Given the description of an element on the screen output the (x, y) to click on. 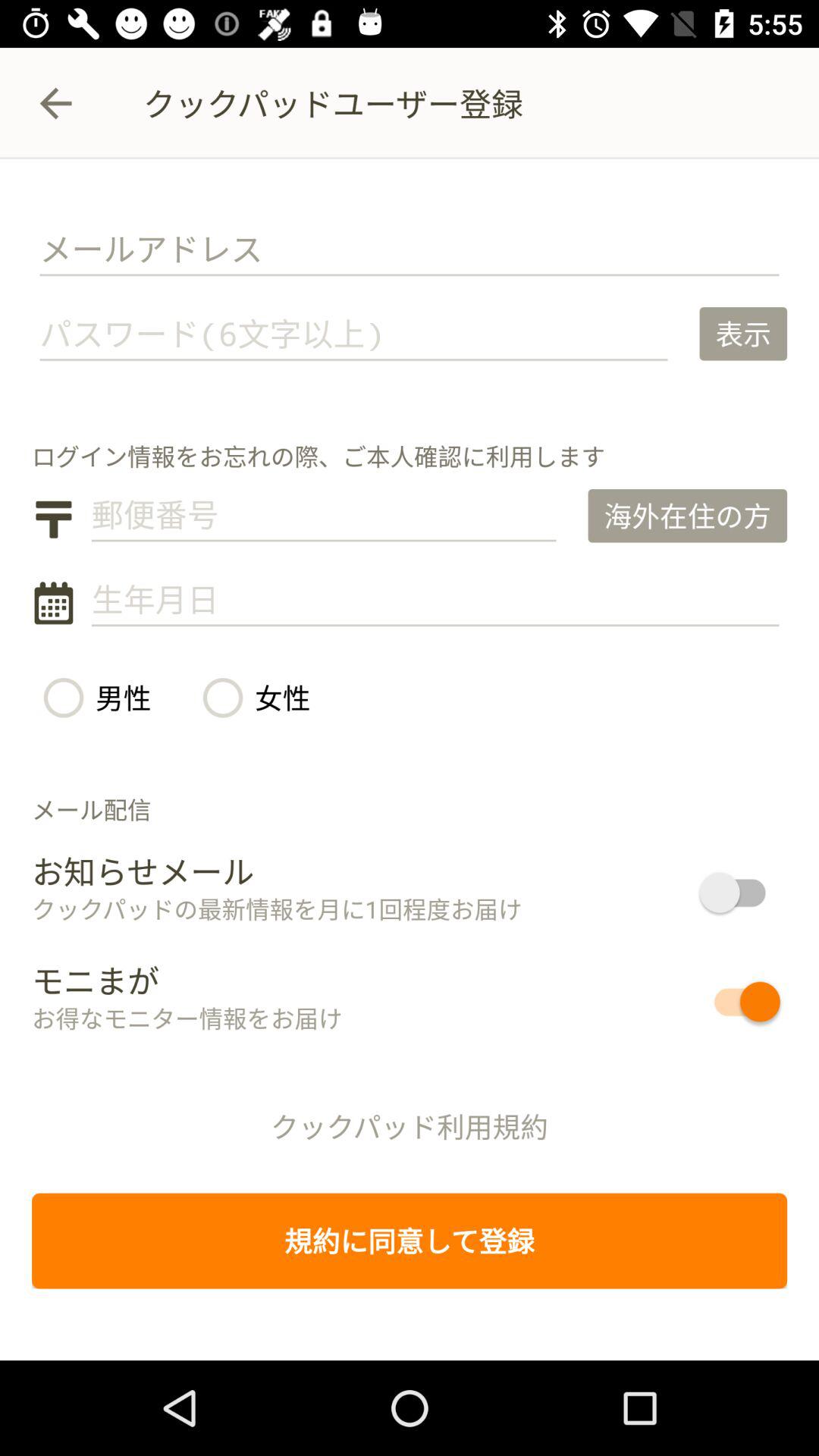
press icon at the top left corner (55, 103)
